Given the description of an element on the screen output the (x, y) to click on. 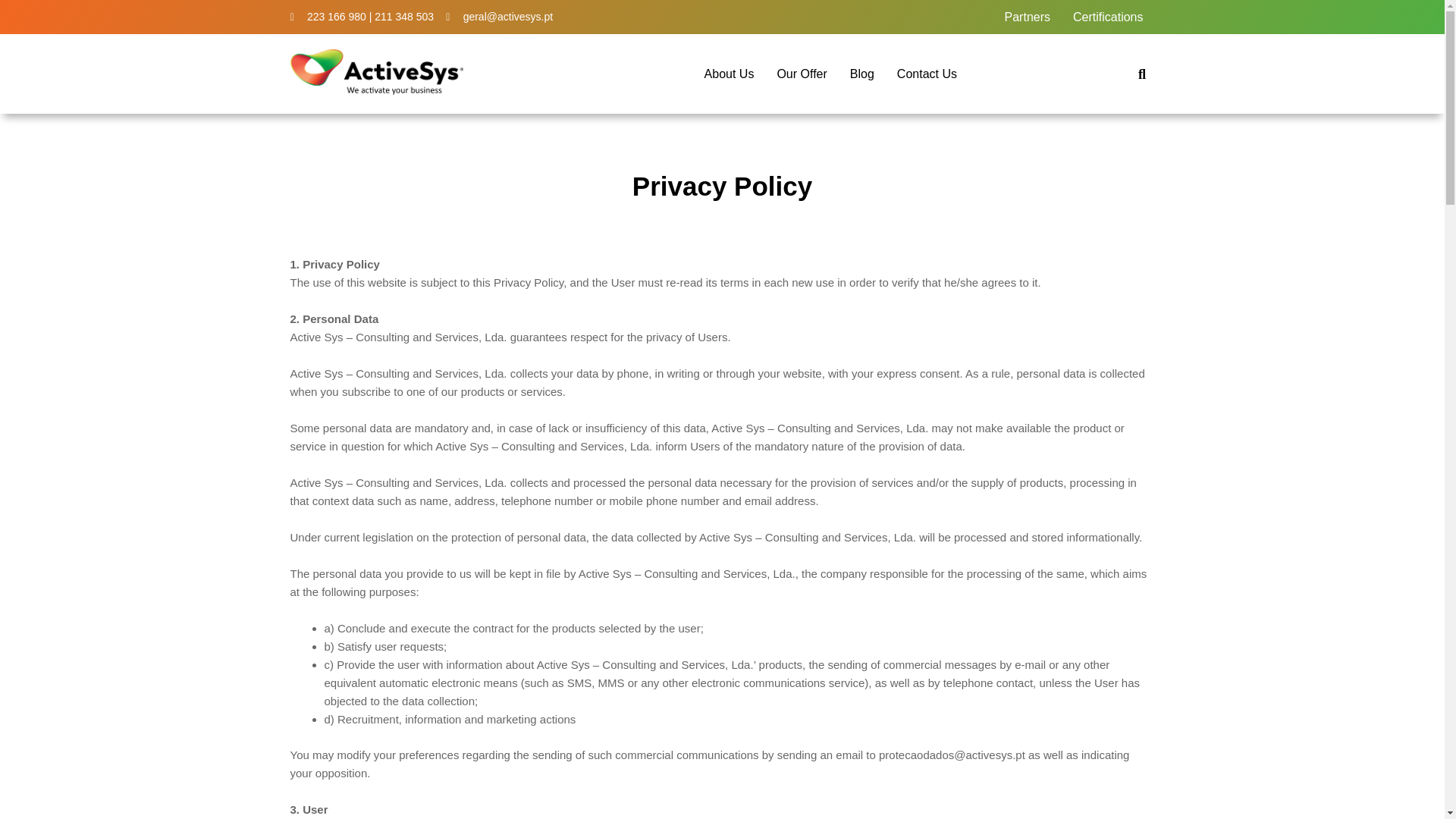
Certifications (1107, 17)
Blog (861, 73)
Contact Us (926, 73)
Our Offer (801, 73)
About Us (729, 73)
Partners (1026, 17)
